Given the description of an element on the screen output the (x, y) to click on. 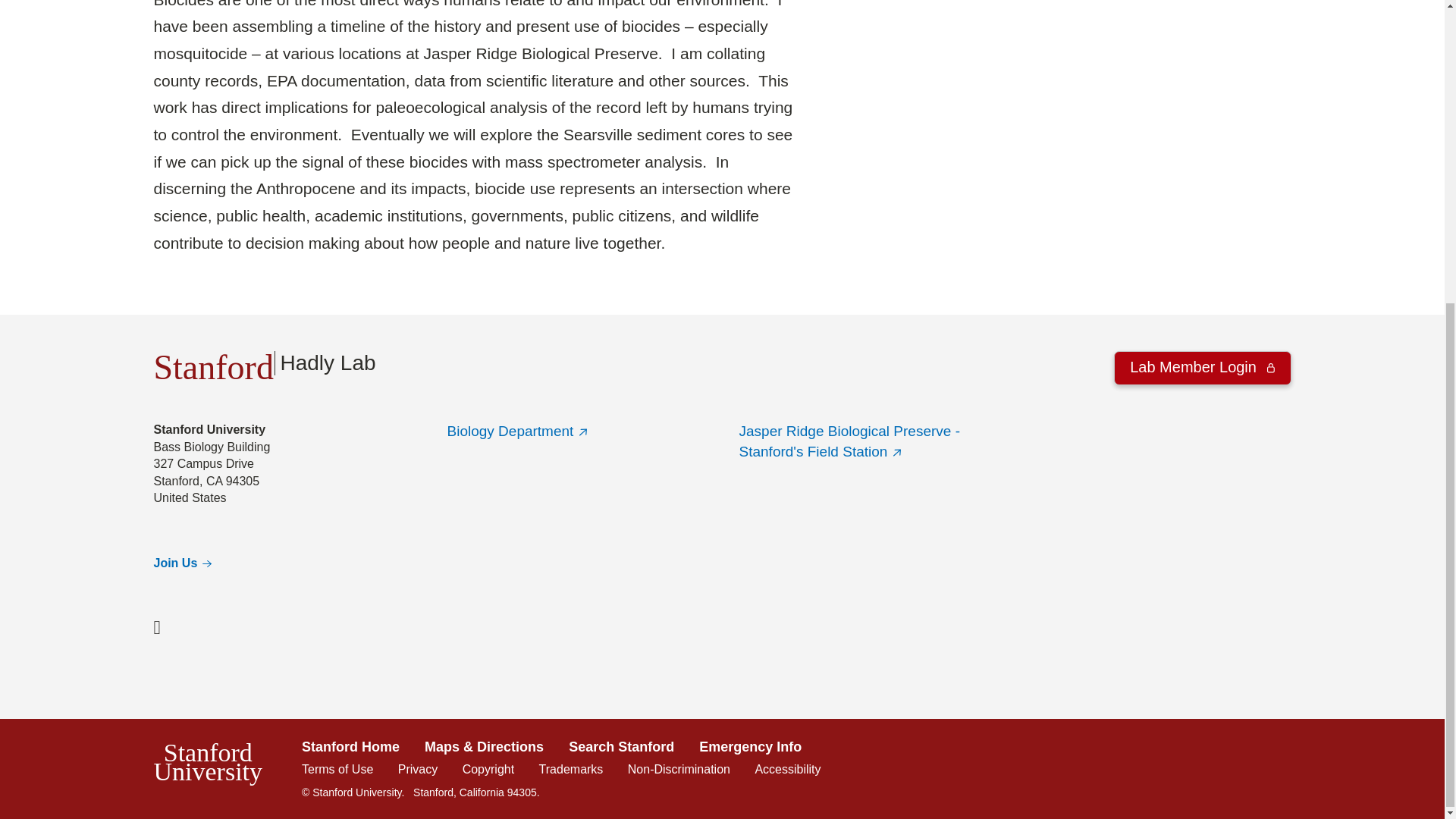
Non-discrimination policy (263, 363)
Biology Department (678, 768)
Report web accessibility issues (518, 430)
Privacy and cookie policy (787, 768)
Ownership and use of Stanford trademarks and images (417, 768)
Report alleged copyright infringement (571, 768)
Lab Member Login (488, 768)
Jasper Ridge Biological Preserve - Stanford's Field Station (1201, 367)
Join Us (849, 441)
Terms of use for sites (183, 562)
